Given the description of an element on the screen output the (x, y) to click on. 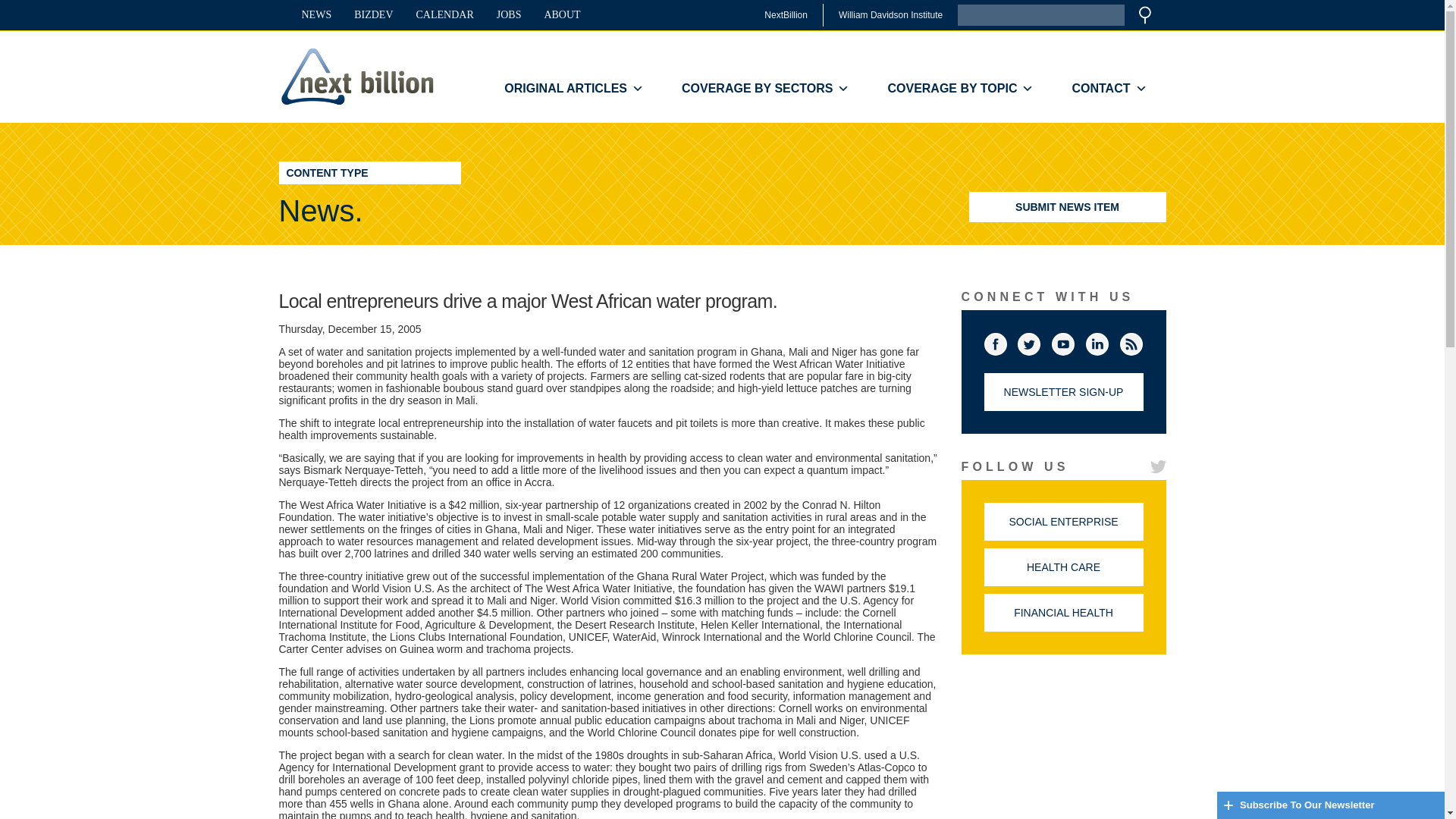
COVERAGE BY SECTORS (764, 88)
COVERAGE BY TOPIC (959, 88)
ORIGINAL ARTICLES (573, 88)
